Given the description of an element on the screen output the (x, y) to click on. 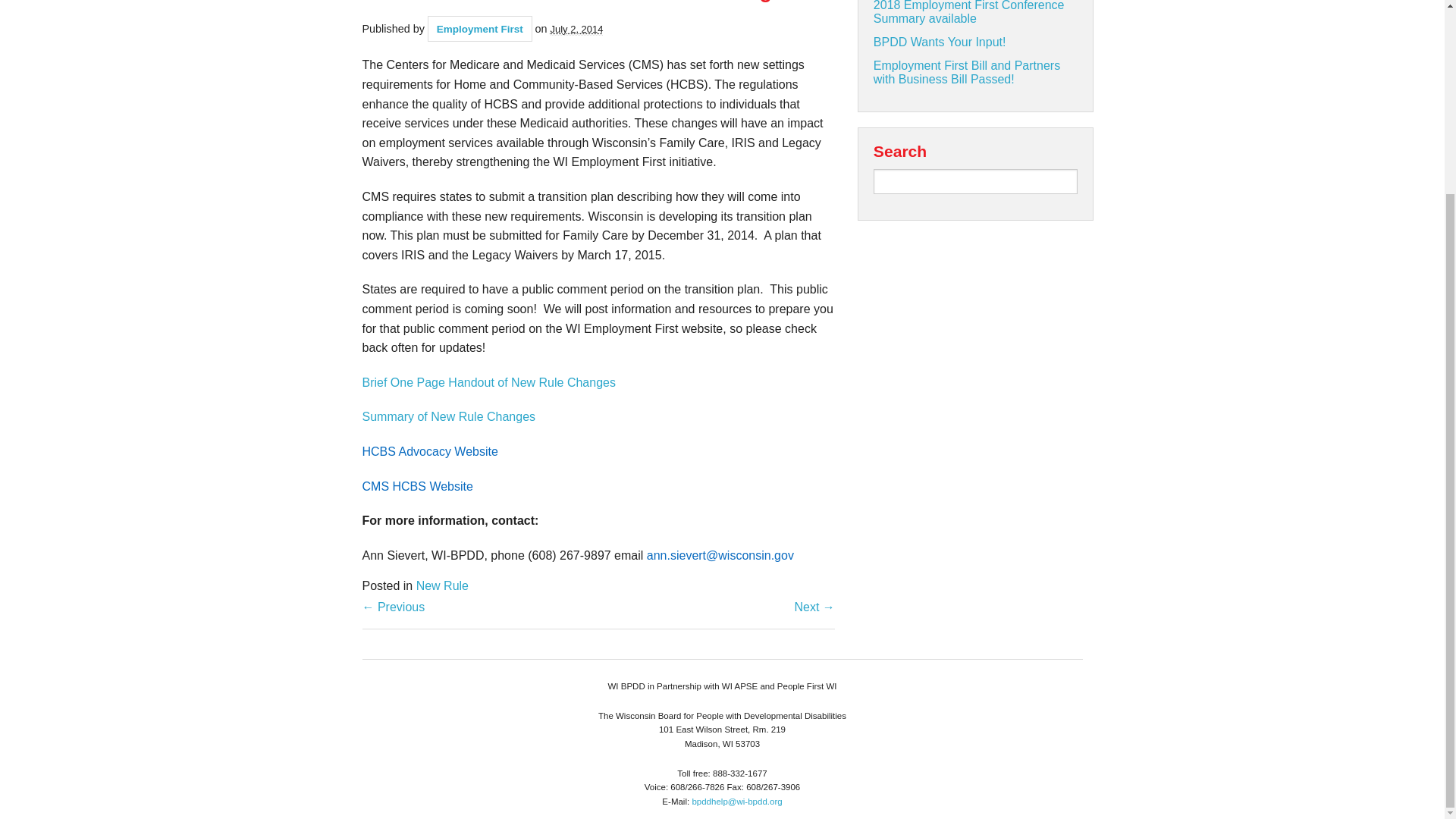
Employment First (479, 29)
CMS HCBS Website (417, 486)
Employment First (479, 29)
Summary of New Rule Changes (448, 416)
Wednesday, July 2nd, 2014, 7:00 pm (577, 29)
Brief One Page Handout of New Rule Changes (488, 382)
2018 Employment First Conference Summary available (968, 12)
HCBS Advocacy Website (429, 451)
New Rule (442, 585)
